Given the description of an element on the screen output the (x, y) to click on. 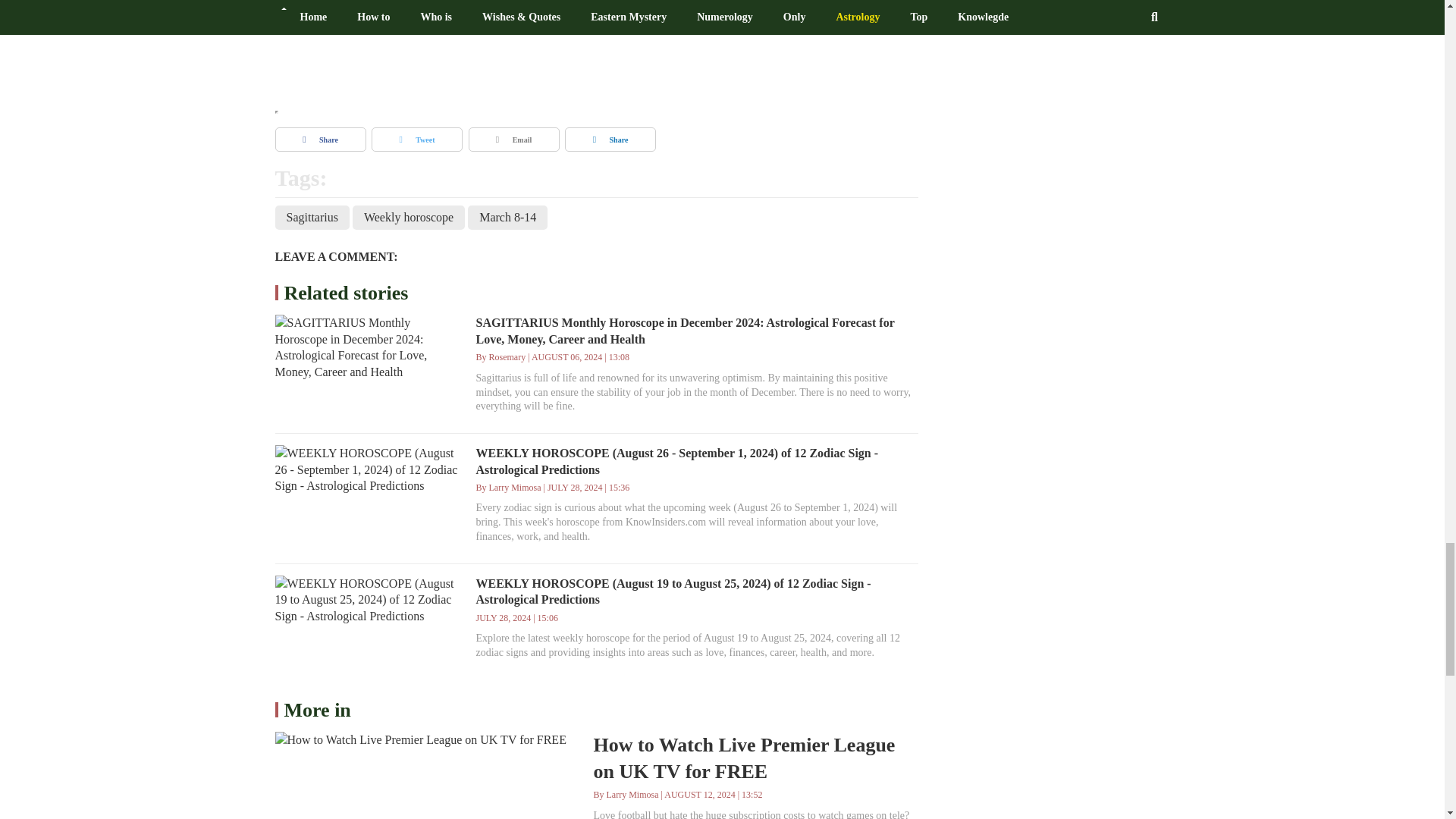
Share by Email (513, 139)
March 8-14 (507, 217)
Sagittarius (312, 217)
Weekly horoscope (408, 217)
